Given the description of an element on the screen output the (x, y) to click on. 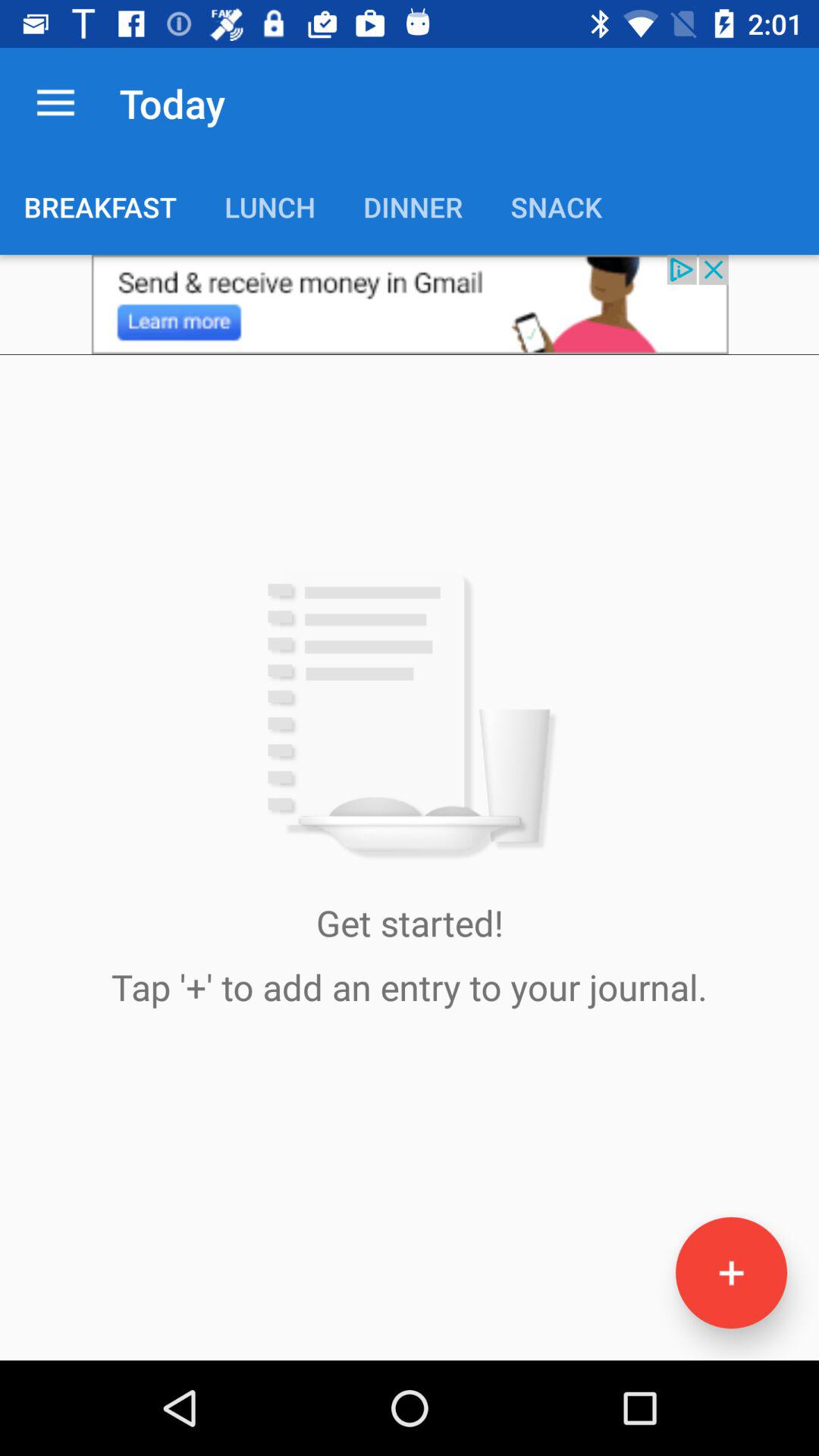
add to journal (731, 1272)
